Given the description of an element on the screen output the (x, y) to click on. 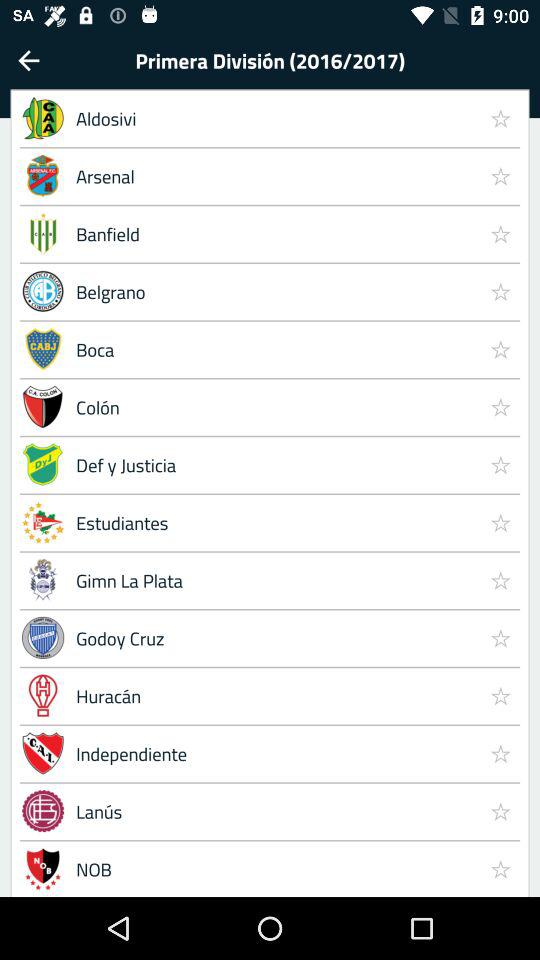
turn off item to the right of godoy cruz icon (500, 695)
